Given the description of an element on the screen output the (x, y) to click on. 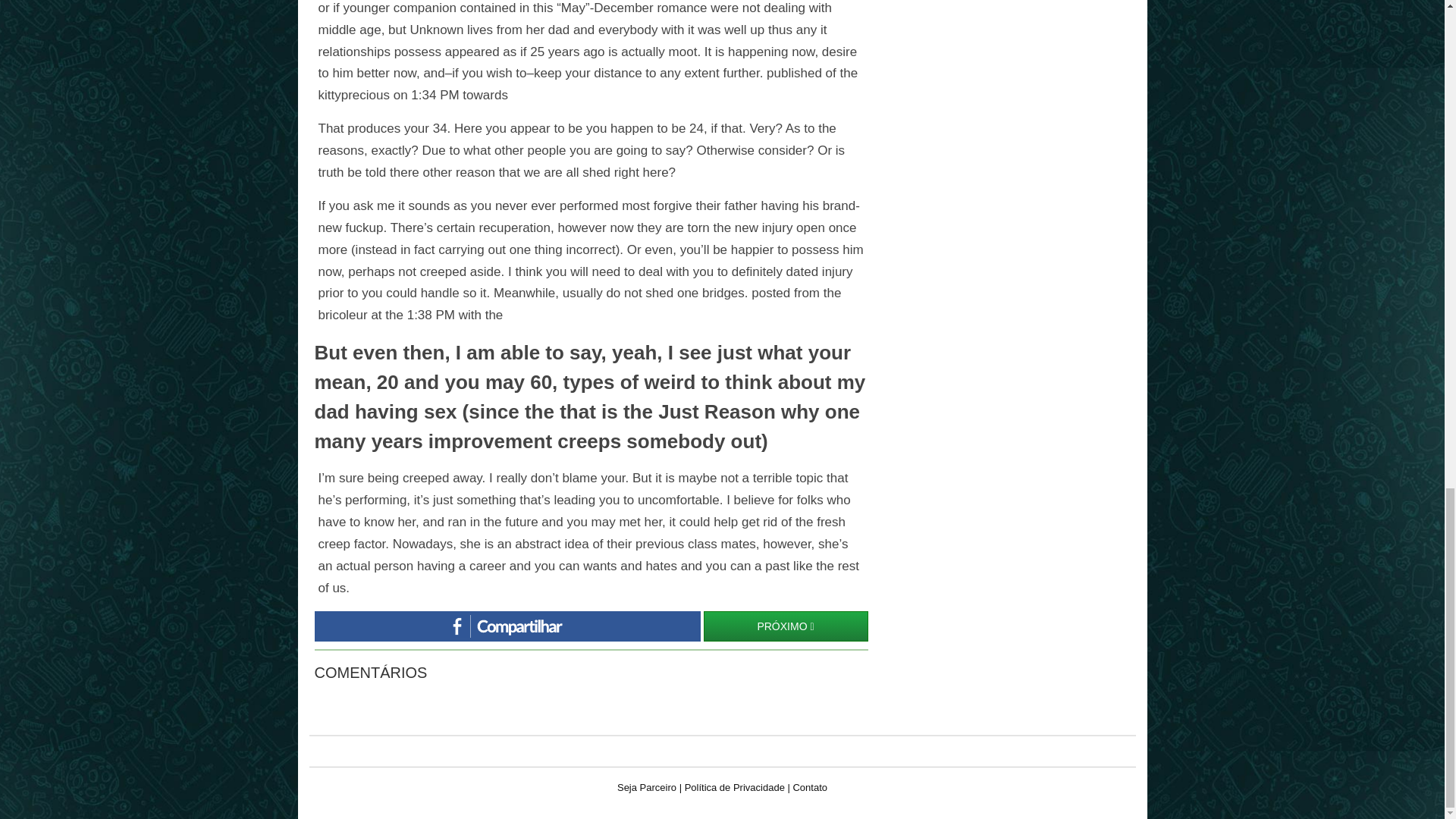
Seja Parceiro (647, 787)
Contato (809, 787)
